Given the description of an element on the screen output the (x, y) to click on. 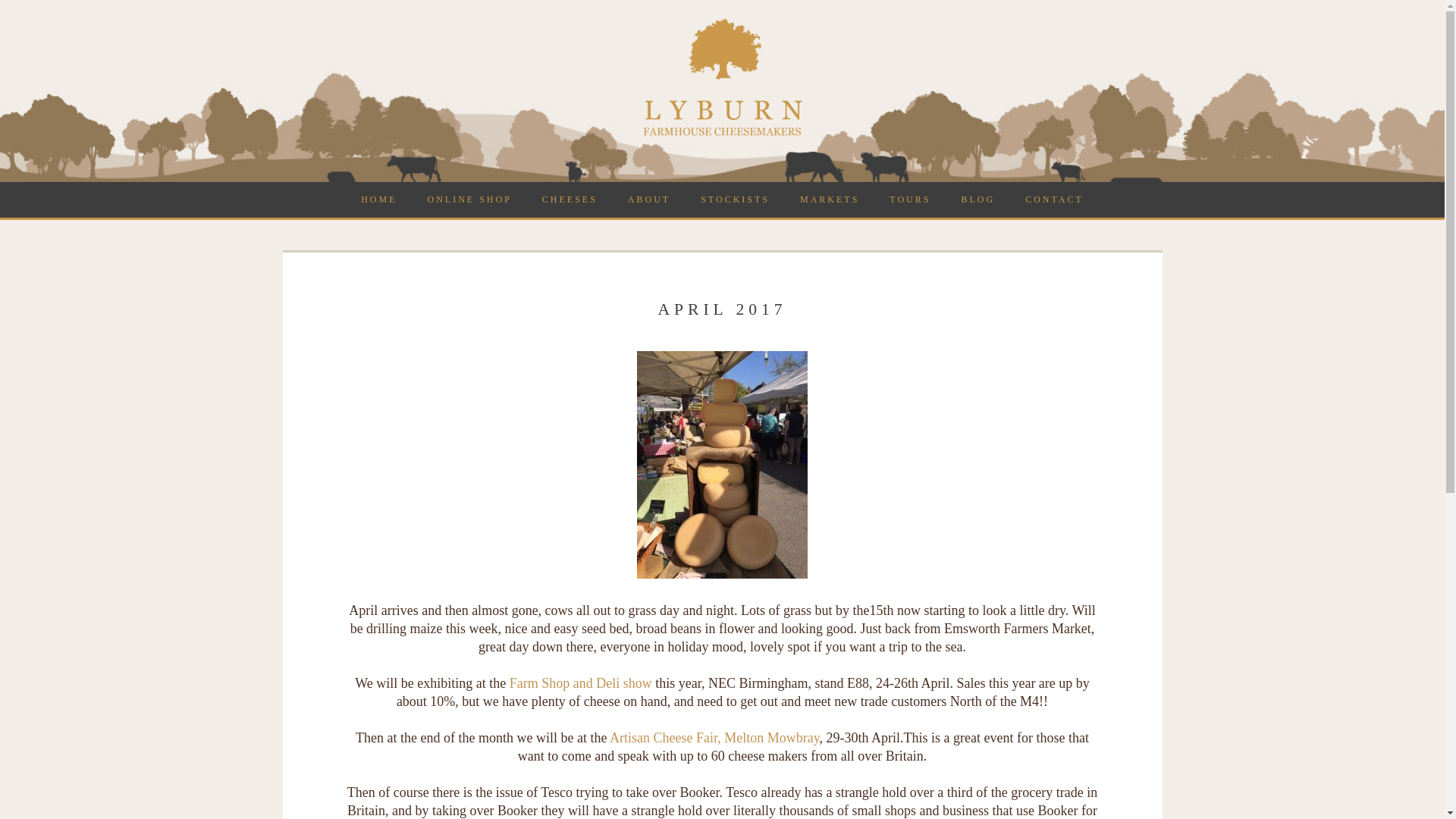
HOME (379, 199)
CHEESES (569, 199)
ONLINE SHOP (468, 199)
Events (829, 199)
ABOUT (648, 199)
Lyburn Cheese (722, 132)
STOCKISTS (734, 199)
BLOG (977, 199)
Contact (1054, 199)
CONTACT (1054, 199)
TOURS (909, 199)
MARKETS (829, 199)
Home (379, 199)
Cheeses (569, 199)
